Given the description of an element on the screen output the (x, y) to click on. 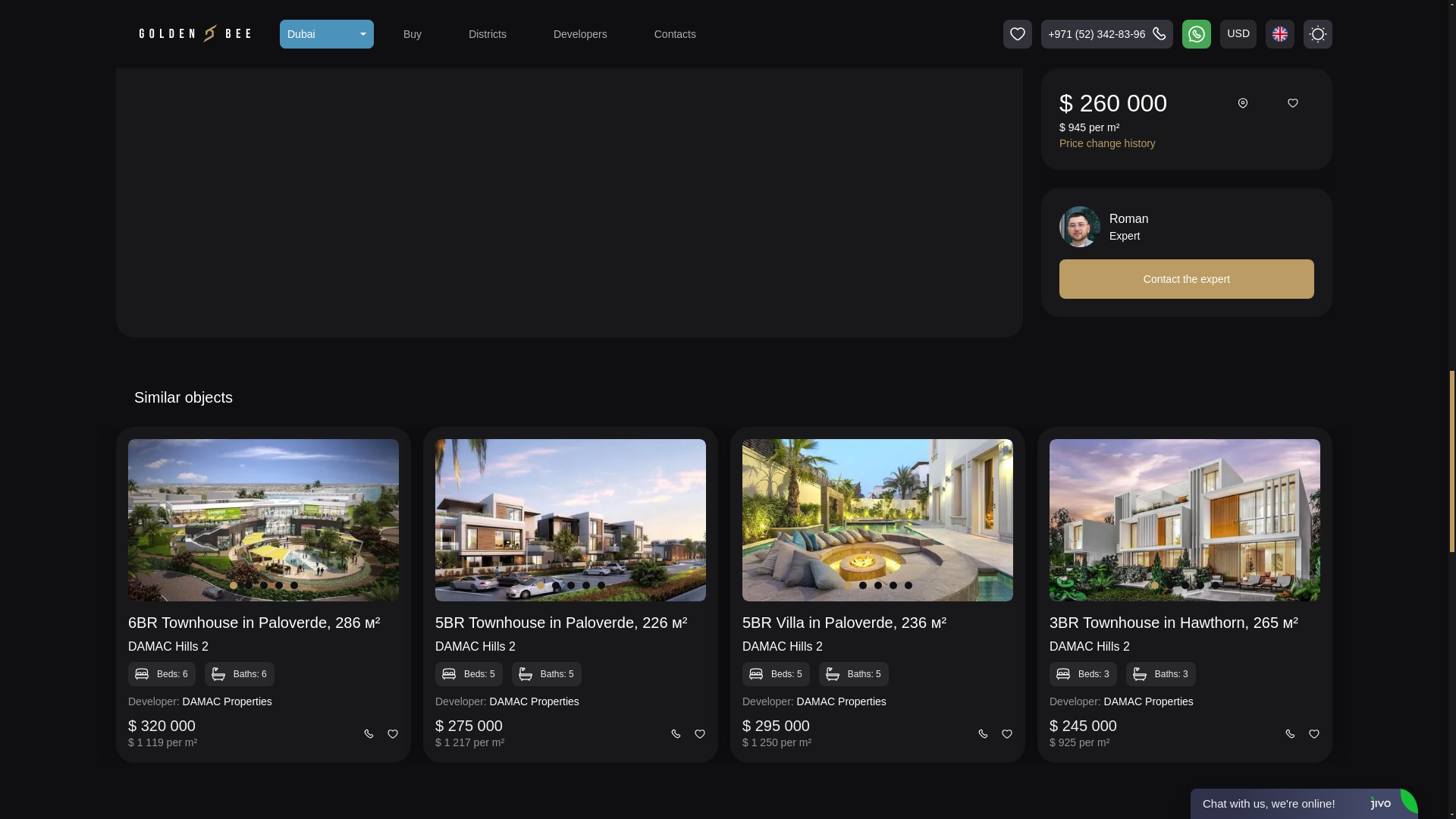
5BR Townhouse in Paloverde (566, 622)
DAMAC Properties (227, 701)
DAMAC Properties (841, 701)
6BR Townhouse in Paloverde (259, 622)
3BR Townhouse in Hawthorn (1180, 622)
5BR Villa in Paloverde (873, 622)
DAMAC Properties (534, 701)
